Given the description of an element on the screen output the (x, y) to click on. 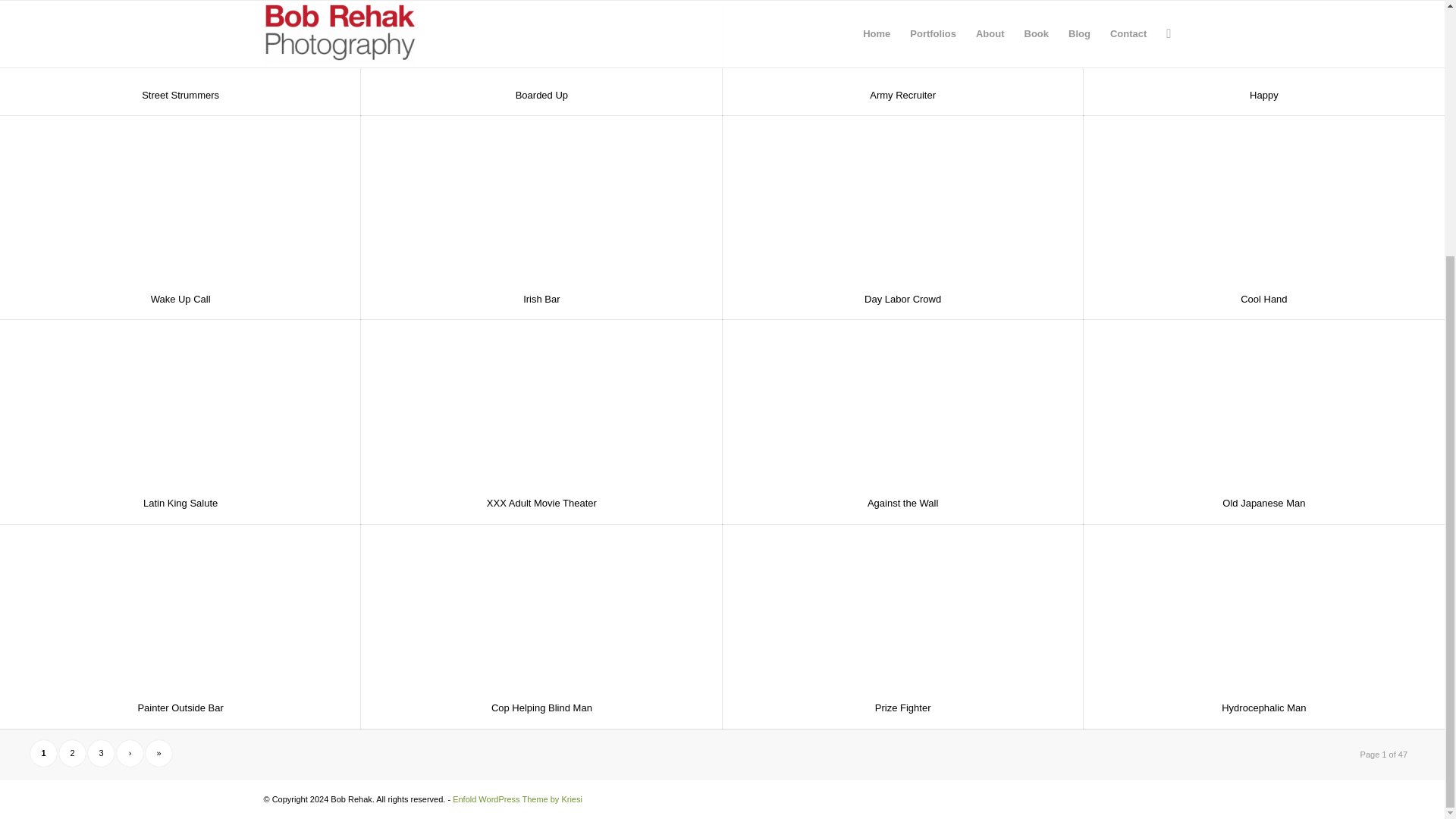
Irish Bar (540, 298)
Latin King Salute (179, 502)
Irish Bar (540, 298)
Street Strummers (180, 94)
Happy (1263, 94)
Boarded Up (541, 94)
Wake Up Call (181, 298)
Day Labor Crowd (902, 298)
Army Recruiter (902, 94)
Day Labor Crowd (902, 298)
Army Recruiter (902, 94)
Happy (1263, 94)
Wake Up Call (181, 298)
Cool Hand (1263, 298)
Boarded Up (541, 94)
